Given the description of an element on the screen output the (x, y) to click on. 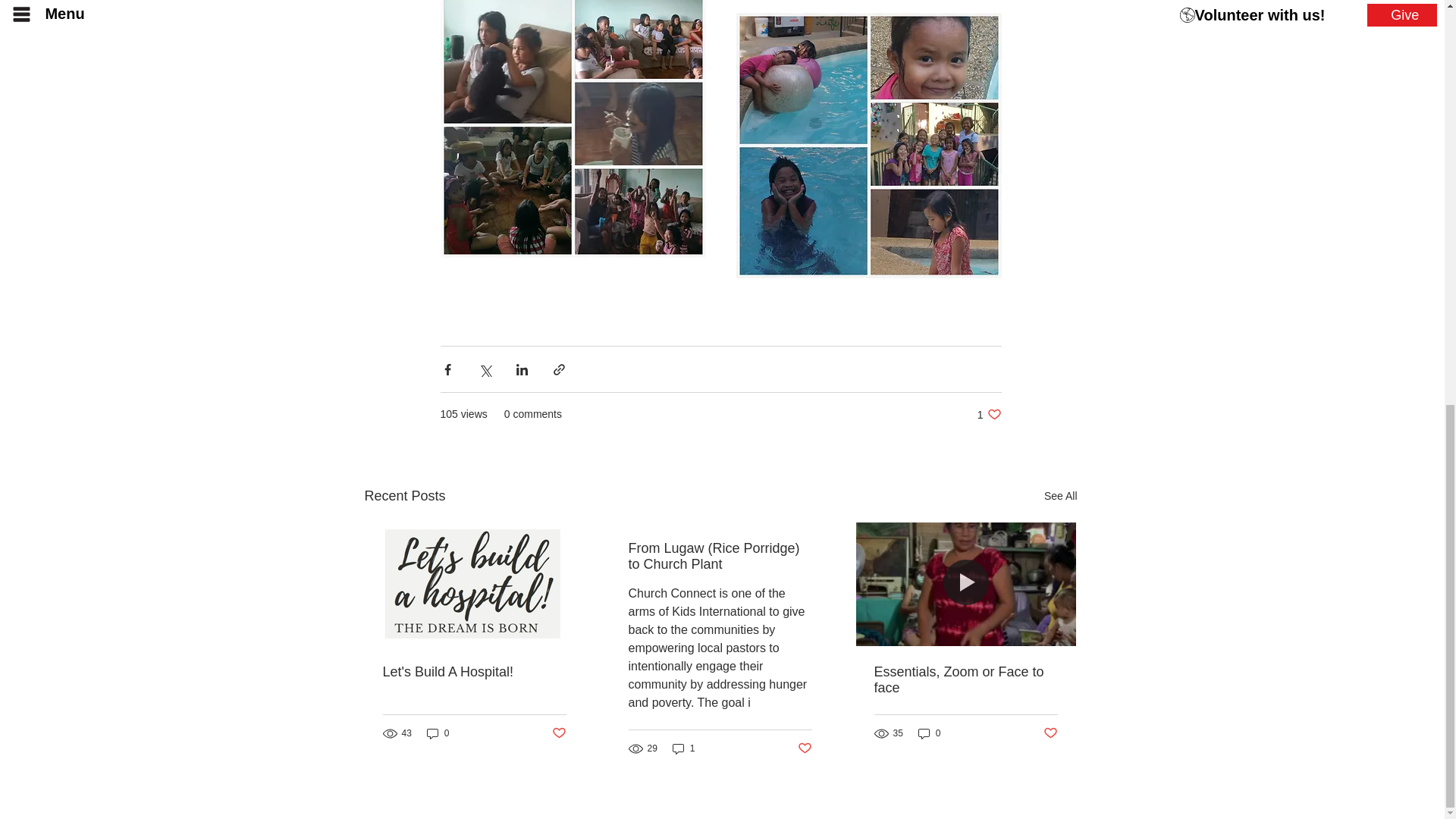
Post not marked as liked (1050, 733)
0 (929, 733)
Essentials, Zoom or Face to face (965, 680)
0 (438, 733)
See All (1060, 495)
Let's Build A Hospital! (473, 672)
Post not marked as liked (804, 747)
Post not marked as liked (558, 733)
1 (684, 748)
